Given the description of an element on the screen output the (x, y) to click on. 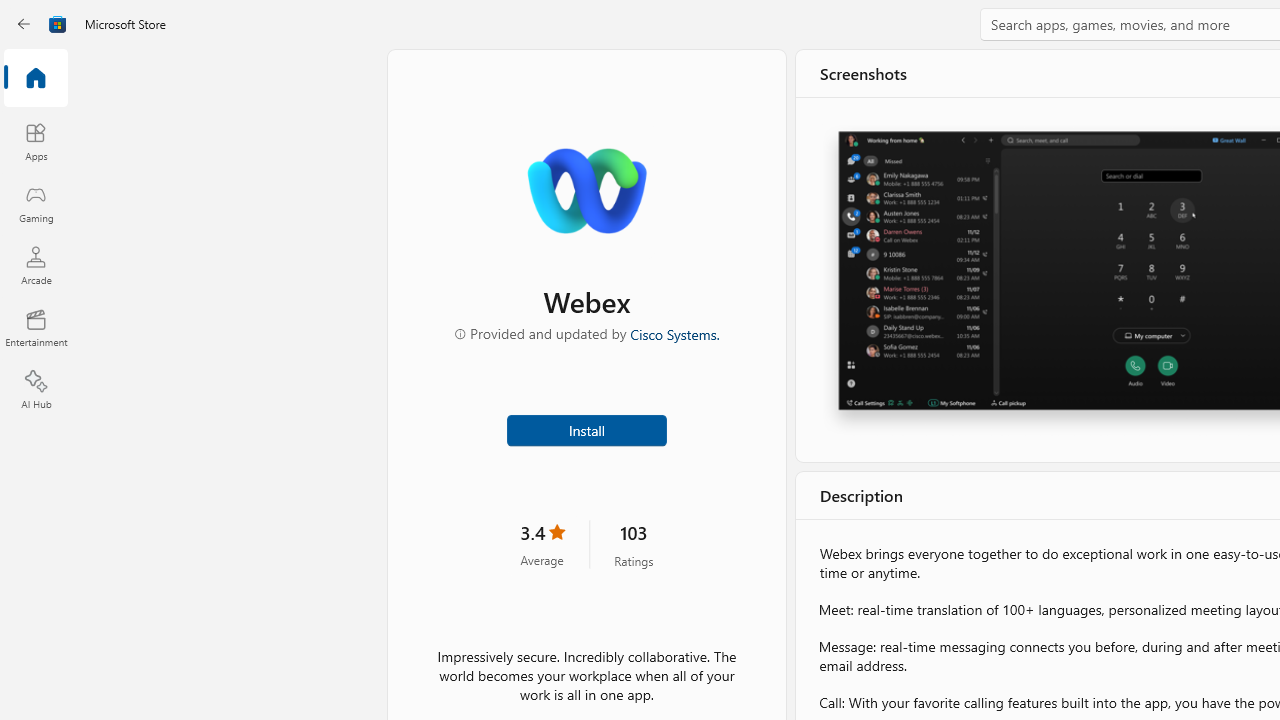
Back (24, 24)
Entertainment (35, 327)
3.4 stars. Click to skip to ratings and reviews (542, 543)
Apps (35, 141)
Home (35, 79)
Class: Image (58, 24)
Arcade (35, 265)
Install (586, 428)
AI Hub (35, 390)
Cisco Systems. (674, 333)
Gaming (35, 203)
